Given the description of an element on the screen output the (x, y) to click on. 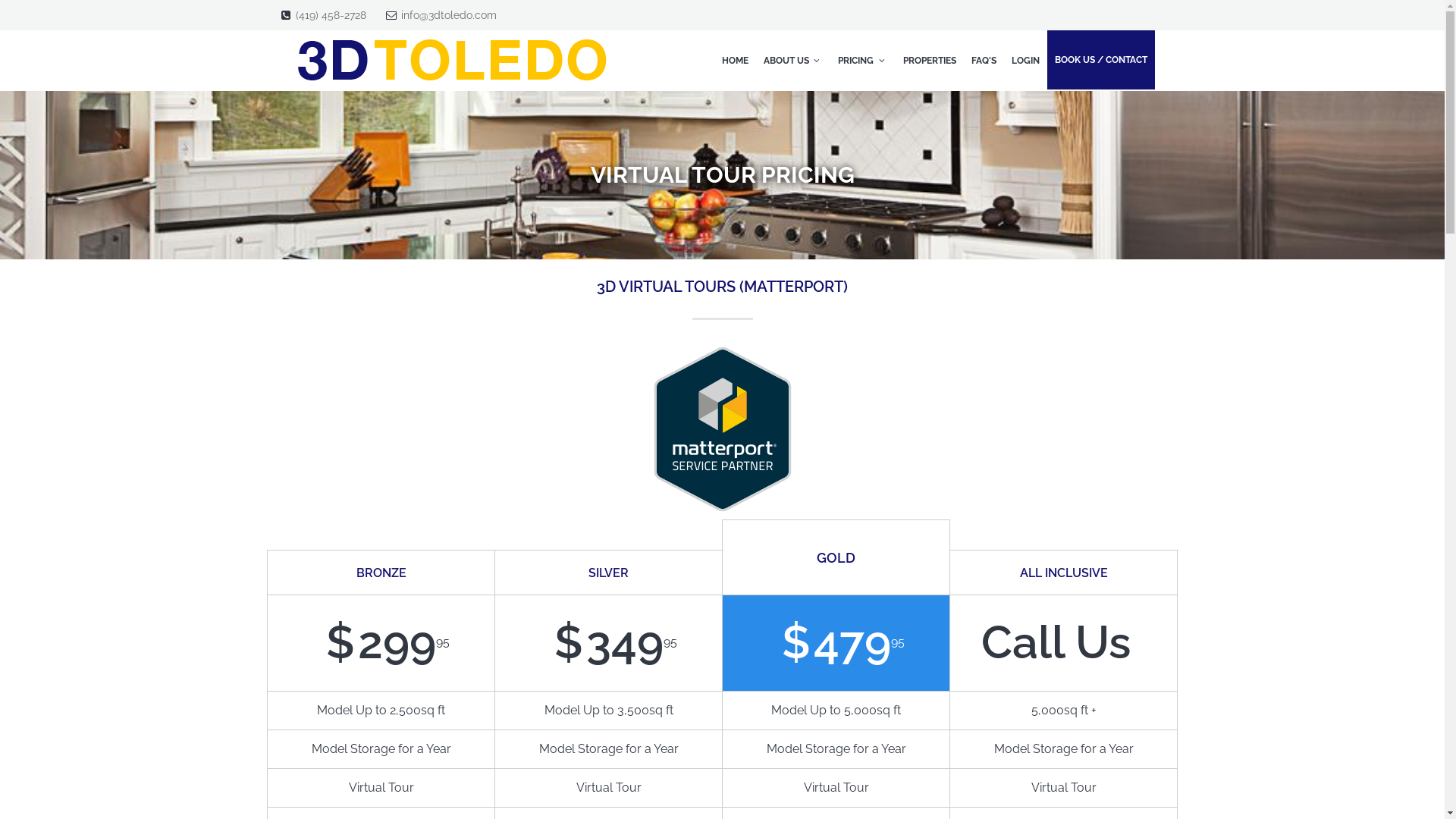
ABOUT US Element type: text (793, 60)
HOME Element type: text (735, 60)
FAQ'S Element type: text (983, 60)
LOGIN Element type: text (1025, 60)
(419) 458-2728 Element type: text (330, 15)
info@3dtoledo.com Element type: text (447, 15)
PRICING Element type: text (862, 60)
BOOK US / CONTACT Element type: text (1100, 59)
PROPERTIES Element type: text (928, 60)
